Given the description of an element on the screen output the (x, y) to click on. 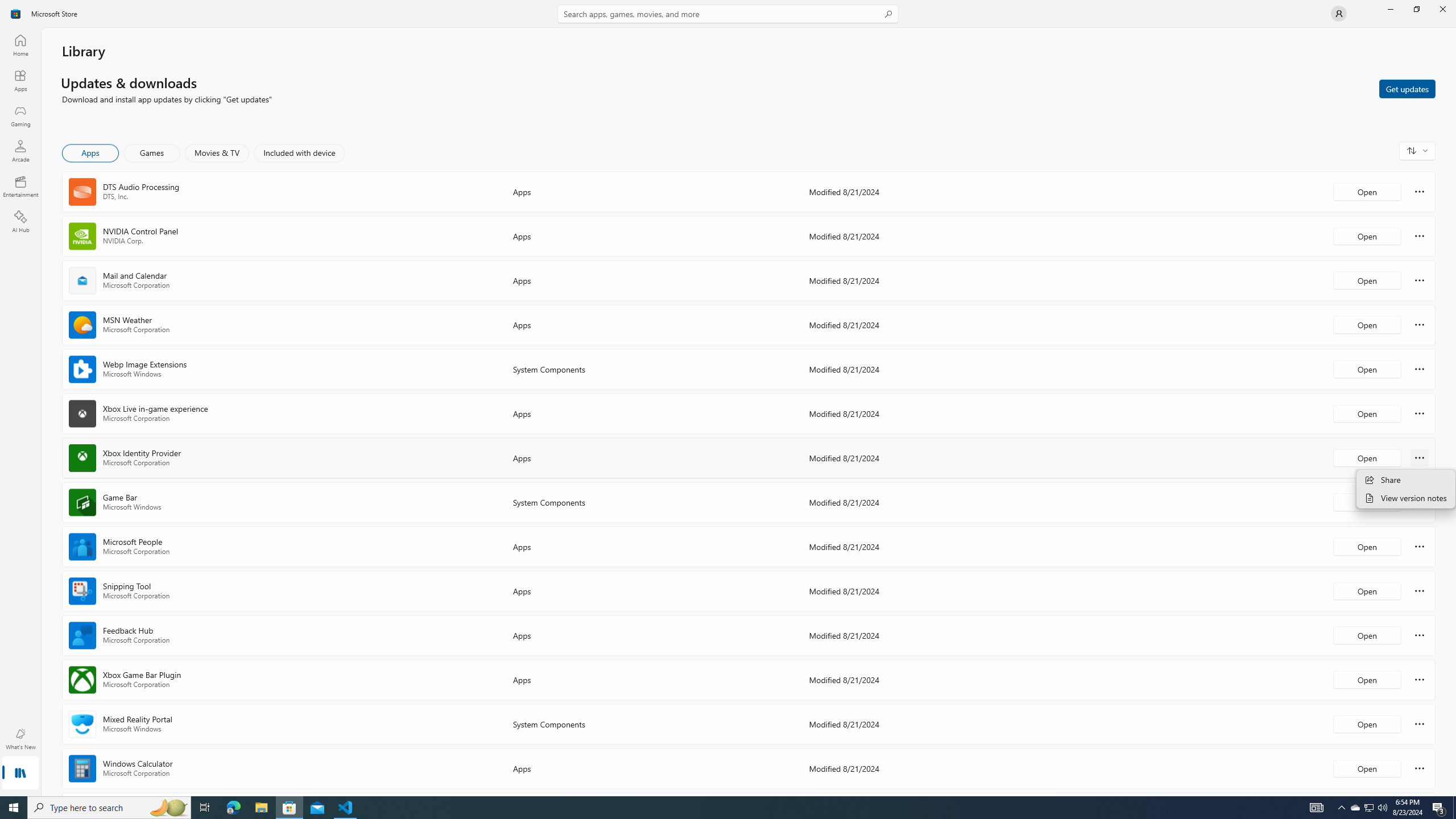
Close Microsoft Store (1442, 9)
Home (20, 45)
Search (727, 13)
Arcade (20, 150)
Sort and filter (1417, 149)
Included with device (299, 153)
Library (20, 773)
User profile (1338, 13)
